Given the description of an element on the screen output the (x, y) to click on. 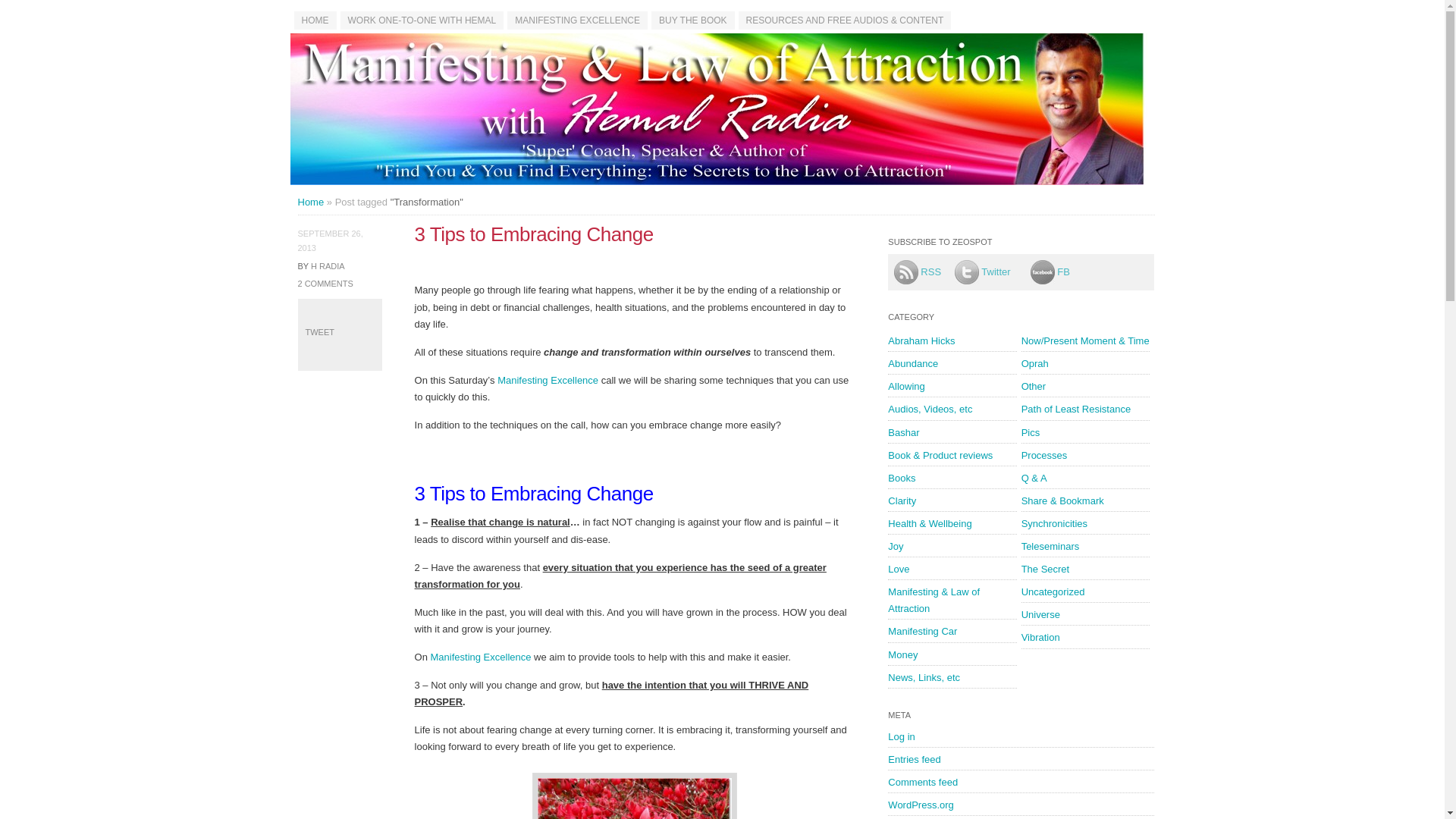
H RADIA (328, 266)
View all posts by H Radia (328, 266)
WORK ONE-TO-ONE WITH HEMAL (421, 20)
3 Tips to Embracing Change (533, 233)
2 COMMENTS (324, 283)
Manifesting Excellence (547, 379)
Follow Zeospot Twitter (992, 271)
3 Tips to Embracing Change (533, 233)
Home (310, 202)
Manifesting Excellence (547, 379)
HOME (315, 20)
Like Zeospot.com Facebook fans page (1043, 271)
11:01 am (329, 240)
Manifesting Excellence (480, 656)
Subscribe to Zeospot.com (924, 271)
